Given the description of an element on the screen output the (x, y) to click on. 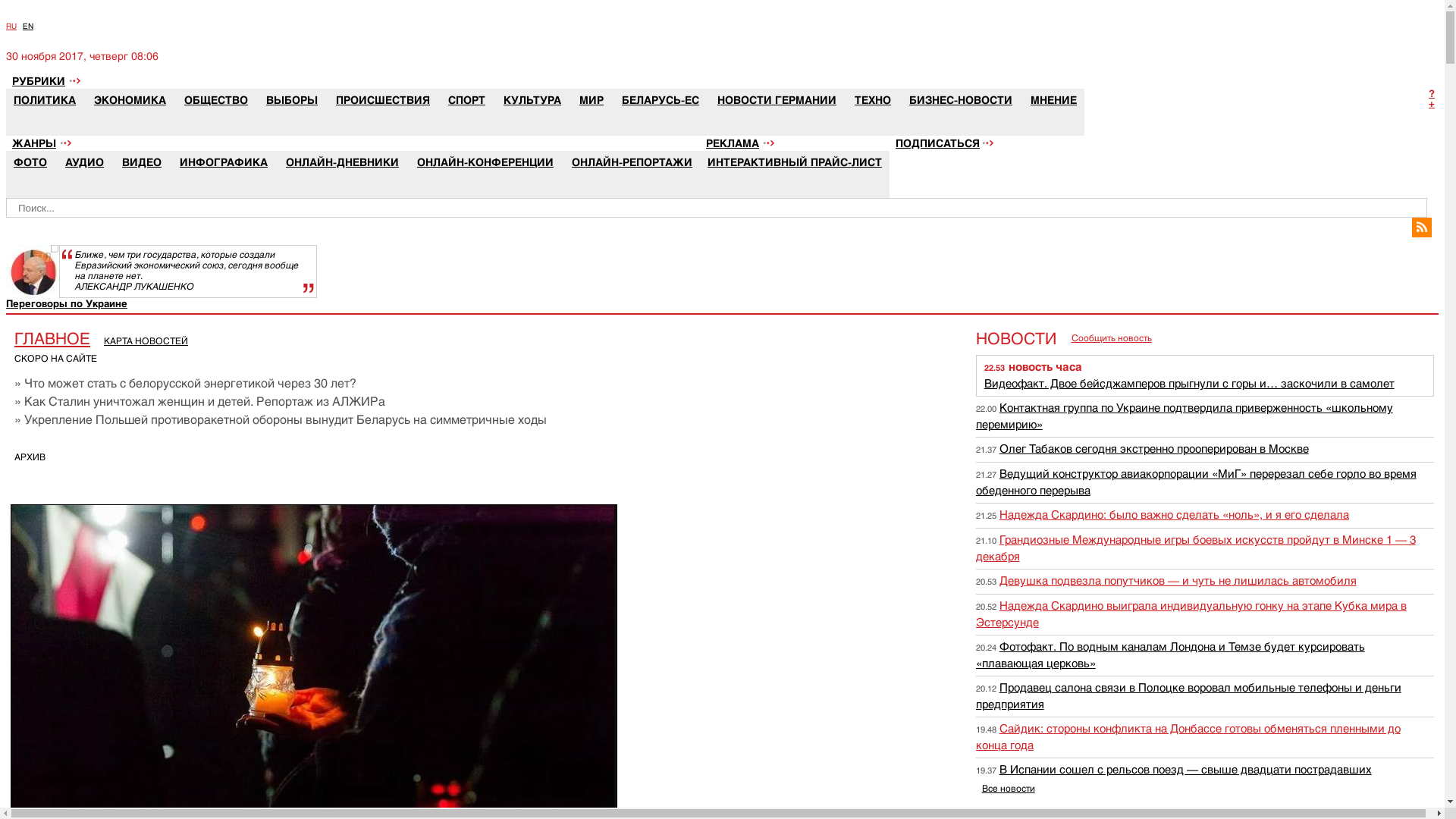
? Element type: text (1433, 93)
RU Element type: text (11, 25)
+ Element type: text (1433, 103)
EN Element type: text (27, 25)
